Given the description of an element on the screen output the (x, y) to click on. 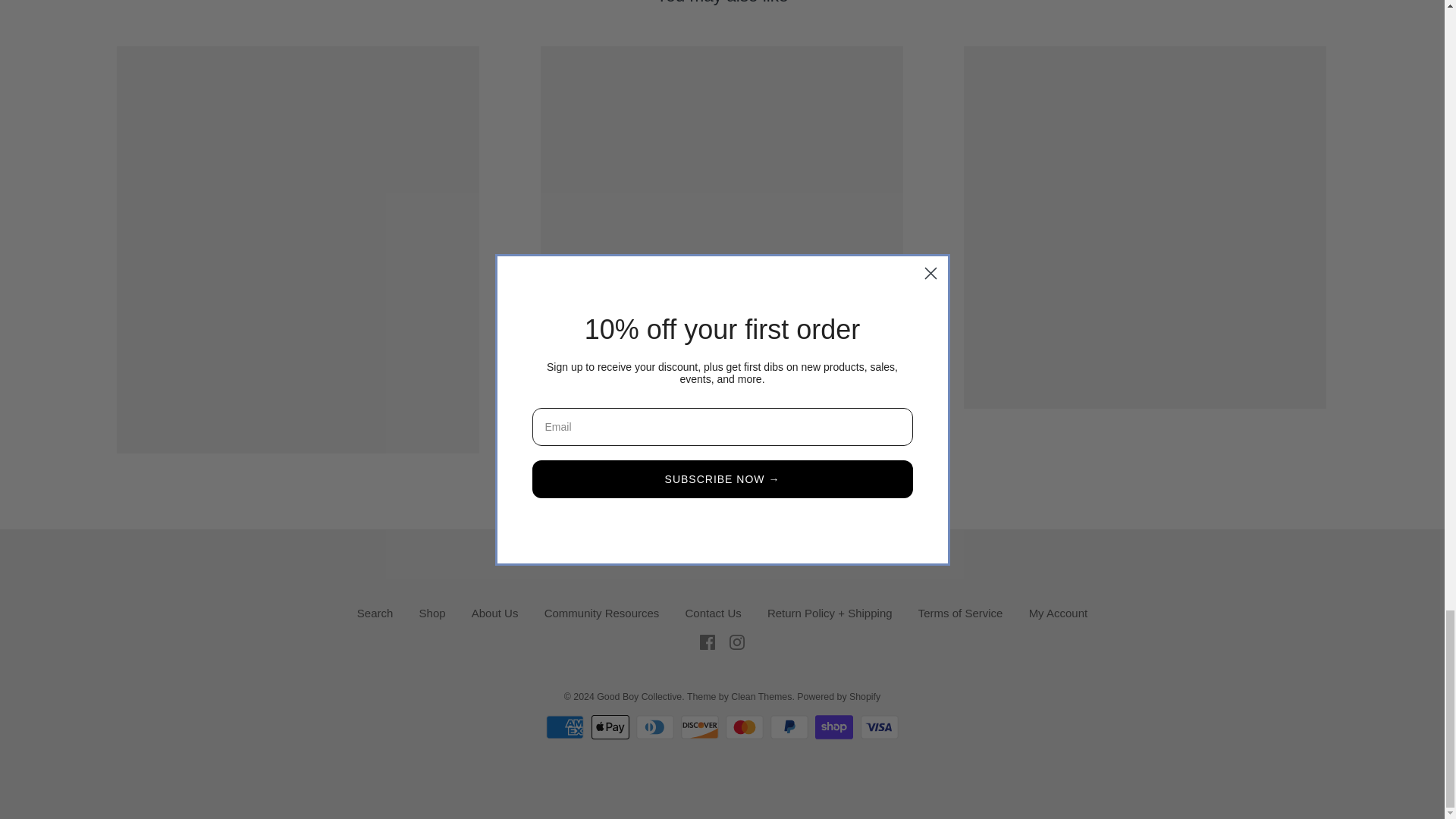
Instagram (736, 640)
American Express (564, 726)
Diners Club (655, 726)
Facebook (707, 640)
Mastercard (743, 726)
Facebook (707, 642)
Discover (700, 726)
Shop Pay (834, 726)
Instagram (736, 642)
Apple Pay (609, 726)
Visa (879, 726)
PayPal (789, 726)
